Given the description of an element on the screen output the (x, y) to click on. 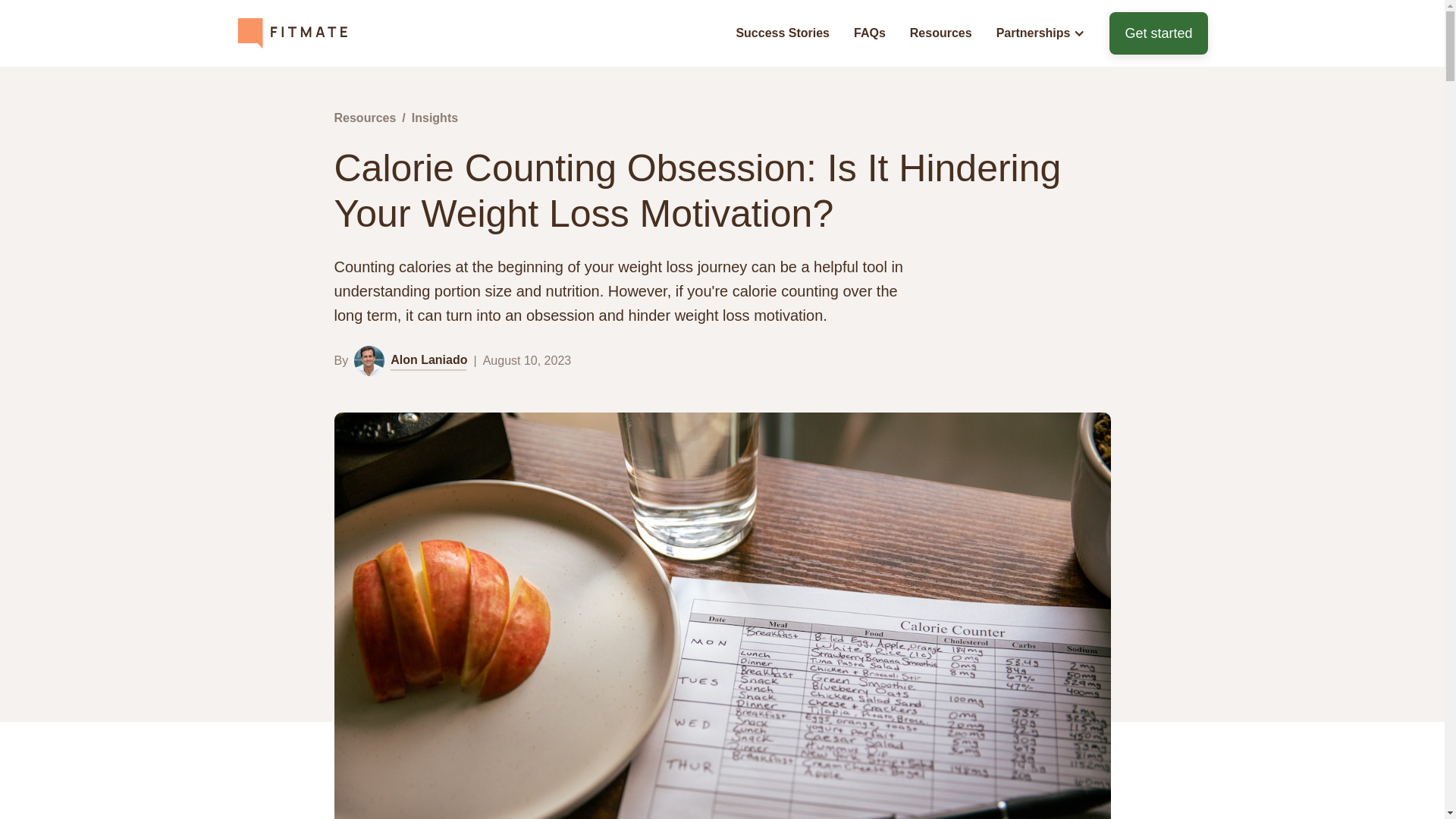
Success Stories (782, 33)
Get started (1158, 33)
Resources (941, 33)
FAQs (869, 33)
Insights (435, 117)
Resources (364, 117)
Alon Laniado (410, 360)
